Given the description of an element on the screen output the (x, y) to click on. 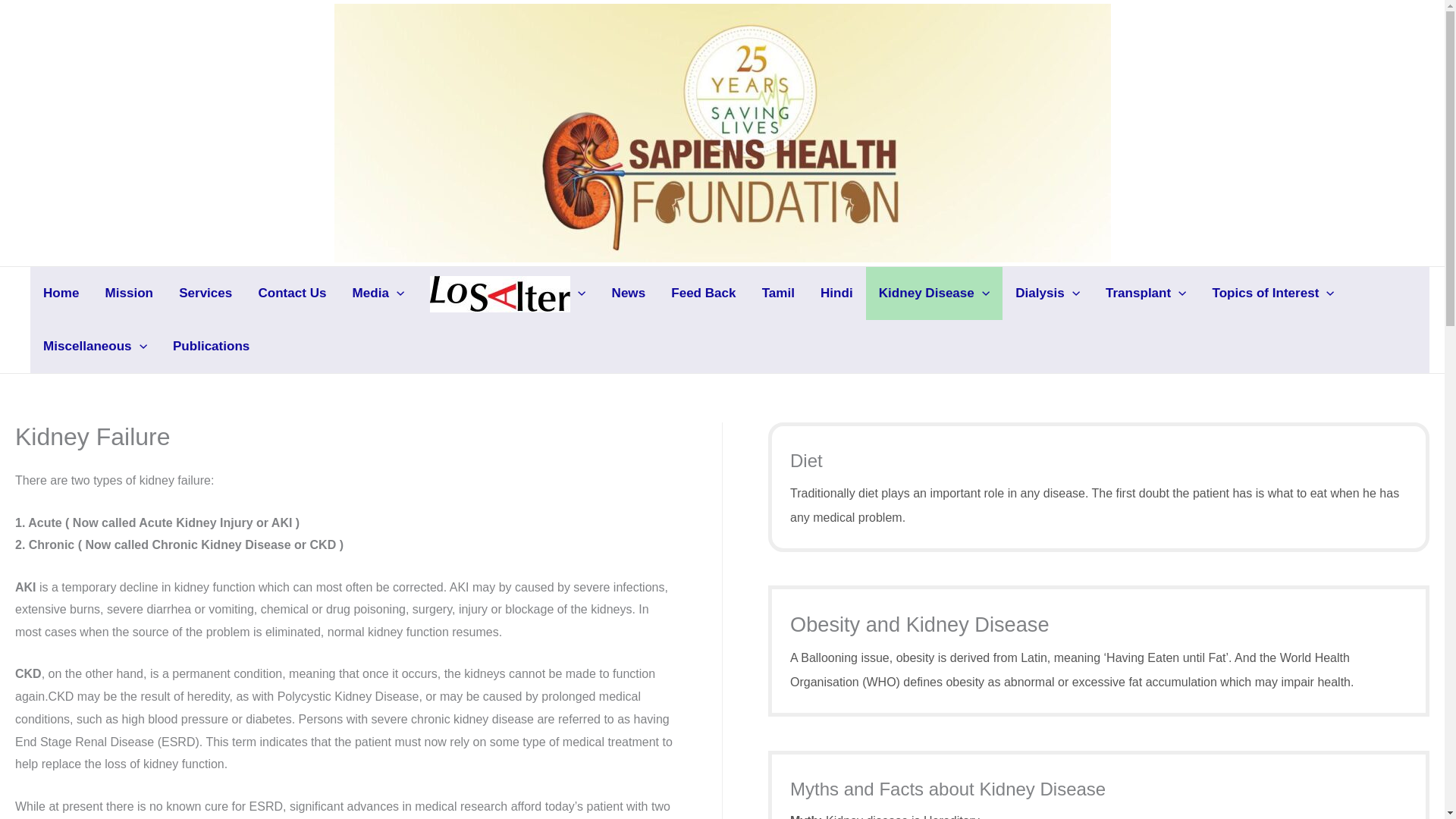
Transplant (1146, 293)
Kidney Disease (934, 293)
Tamil (778, 293)
Contact Us (291, 293)
Hindi (837, 293)
Media (377, 293)
Feed Back (703, 293)
Dialysis (1048, 293)
Mission (130, 293)
News (628, 293)
